Given the description of an element on the screen output the (x, y) to click on. 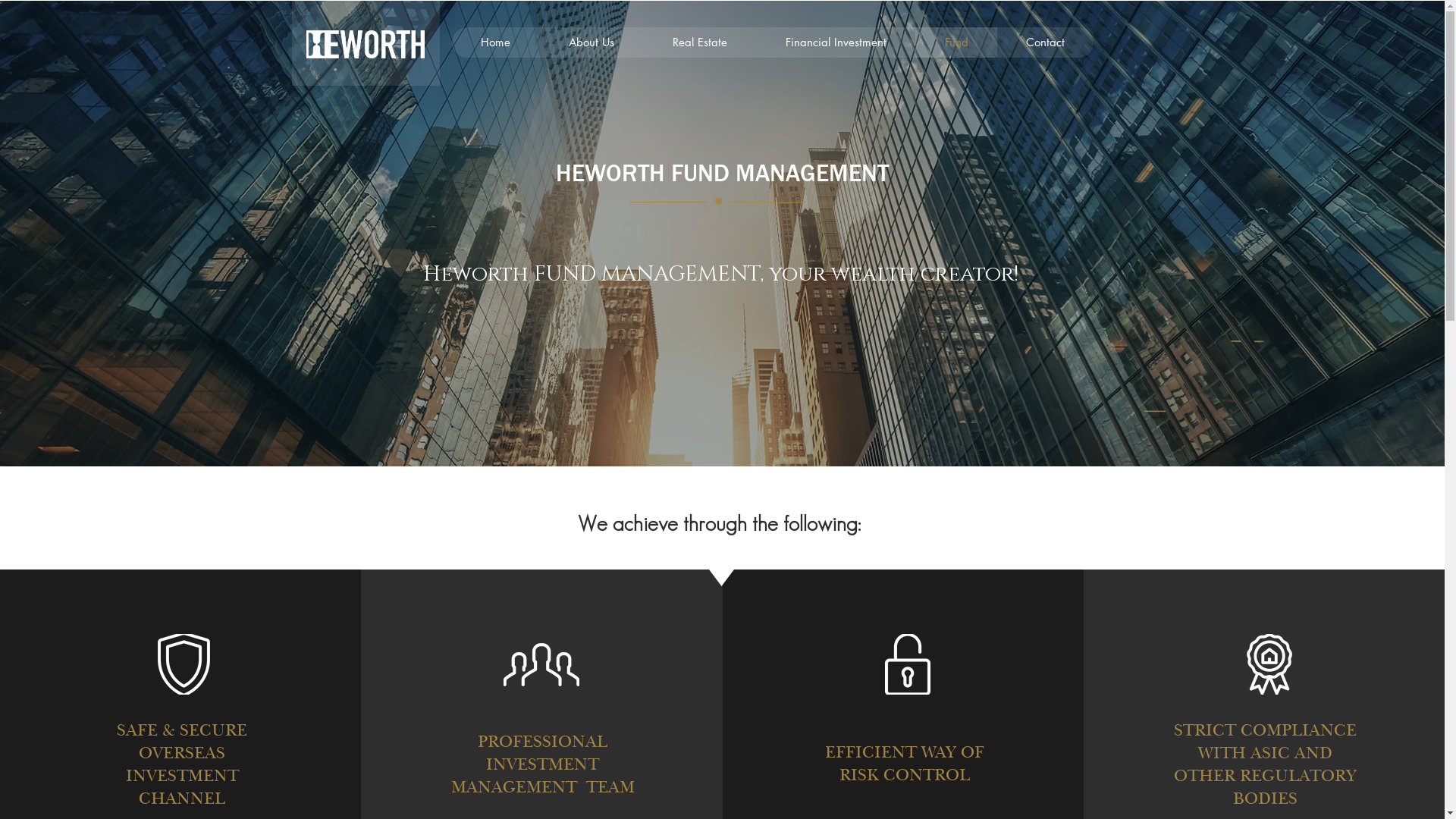
Fund Element type: text (955, 42)
group.png Element type: hover (541, 664)
shield.png Element type: hover (183, 663)
Contact Element type: text (1044, 42)
prize.png Element type: hover (1269, 663)
Financial Investment Element type: text (834, 42)
About Us Element type: text (590, 42)
padlock.png Element type: hover (907, 663)
Real Estate Element type: text (699, 42)
Home Element type: text (495, 42)
